Given the description of an element on the screen output the (x, y) to click on. 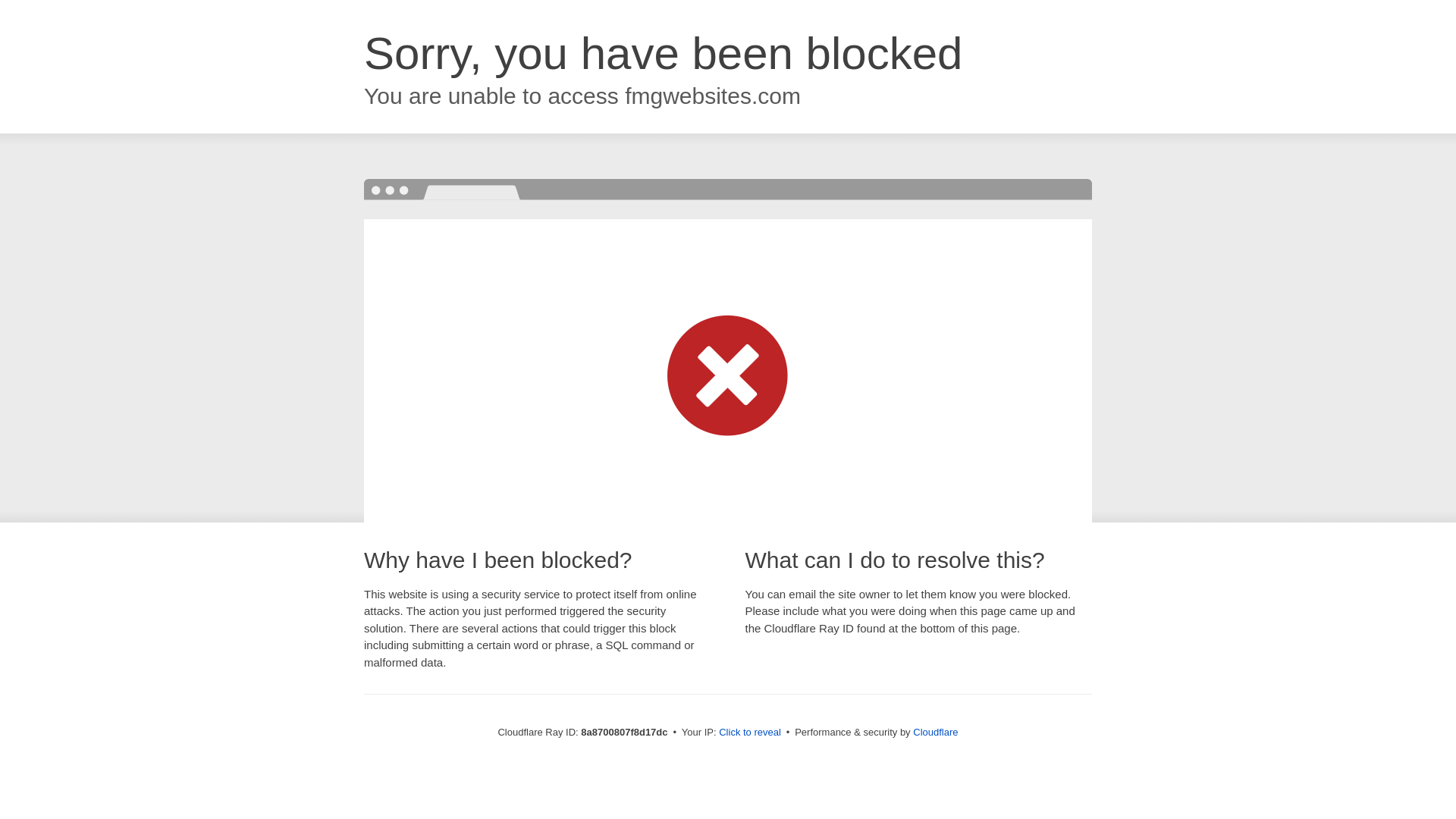
Cloudflare (935, 731)
Click to reveal (749, 732)
